Given the description of an element on the screen output the (x, y) to click on. 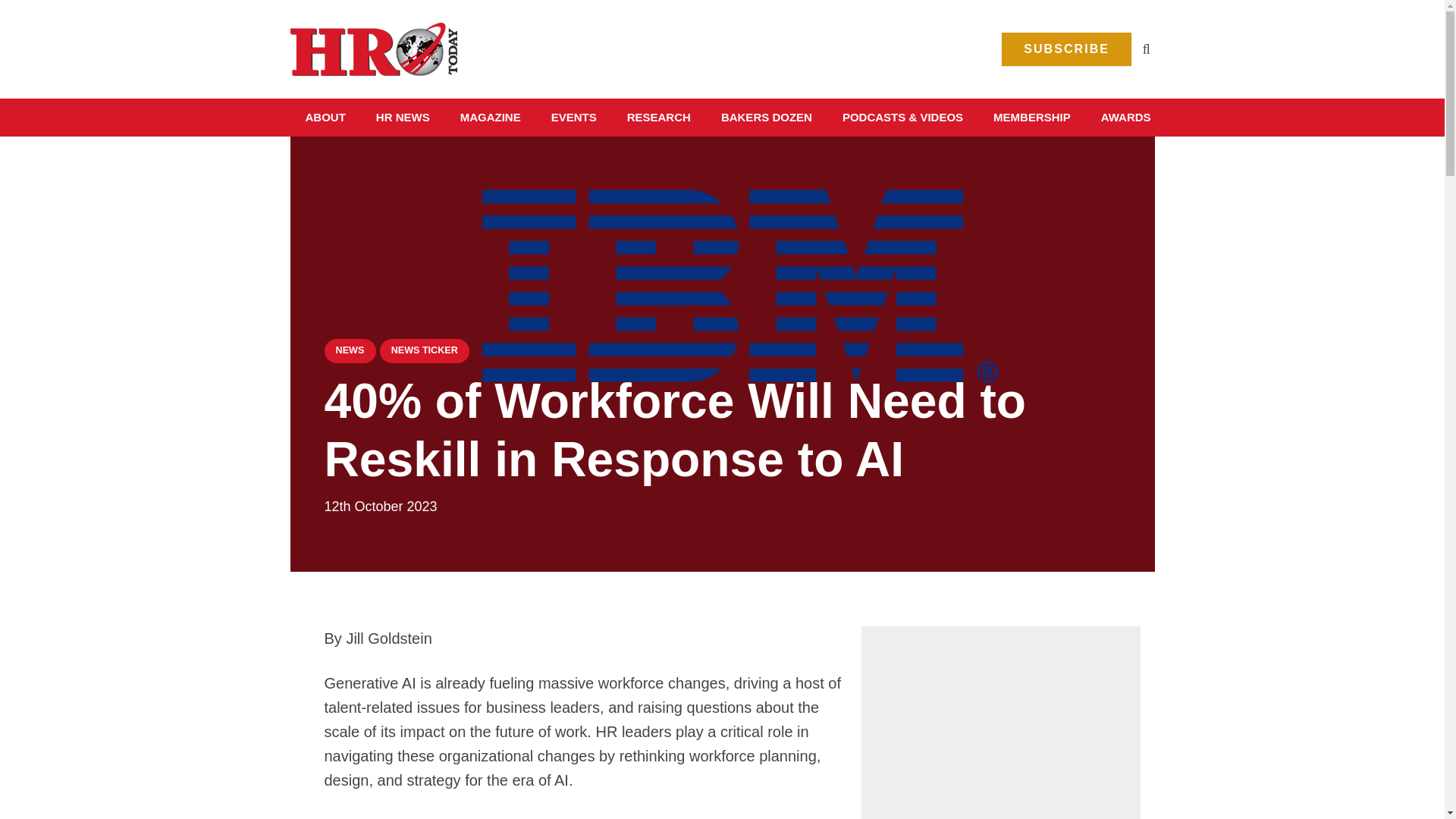
EVENTS (573, 117)
SUBSCRIBE (1066, 49)
ABOUT (324, 117)
RESEARCH (658, 117)
HR NEWS (403, 117)
MAGAZINE (490, 117)
